Given the description of an element on the screen output the (x, y) to click on. 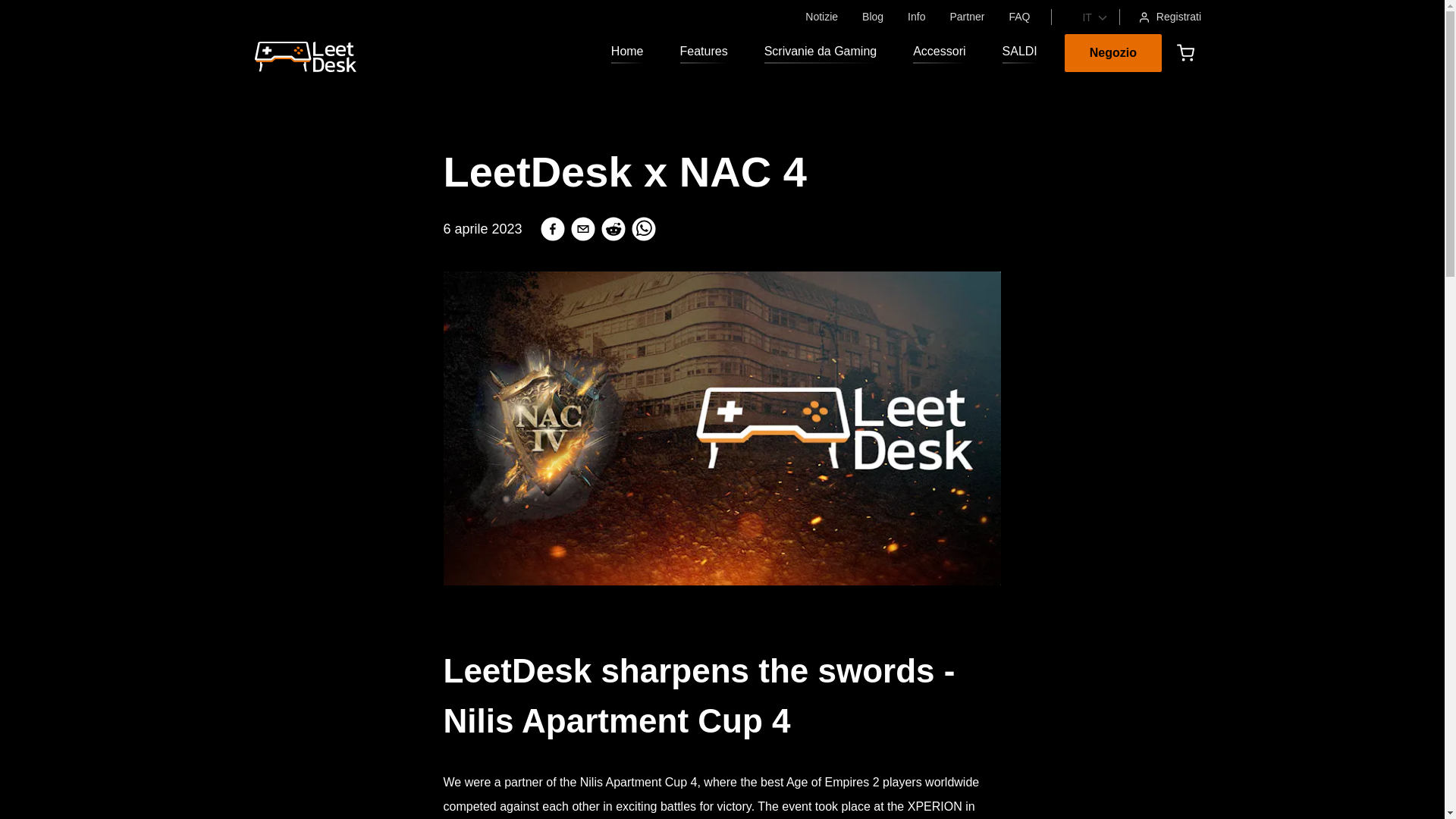
IT (1085, 17)
Notizie (821, 17)
Scrivanie da Gaming (820, 52)
Home (627, 52)
FAQ (1019, 17)
Registrati (1169, 17)
Accessori (938, 52)
Features (703, 52)
Negozio (1112, 53)
Partner (966, 17)
Info (915, 17)
SALDI (1019, 52)
Blog (872, 17)
